Given the description of an element on the screen output the (x, y) to click on. 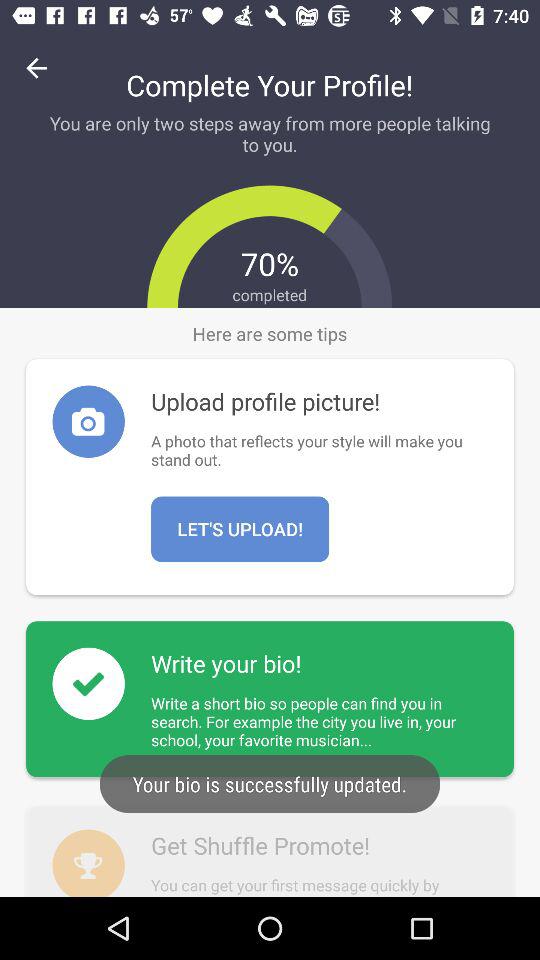
click on lets upload (239, 529)
